Given the description of an element on the screen output the (x, y) to click on. 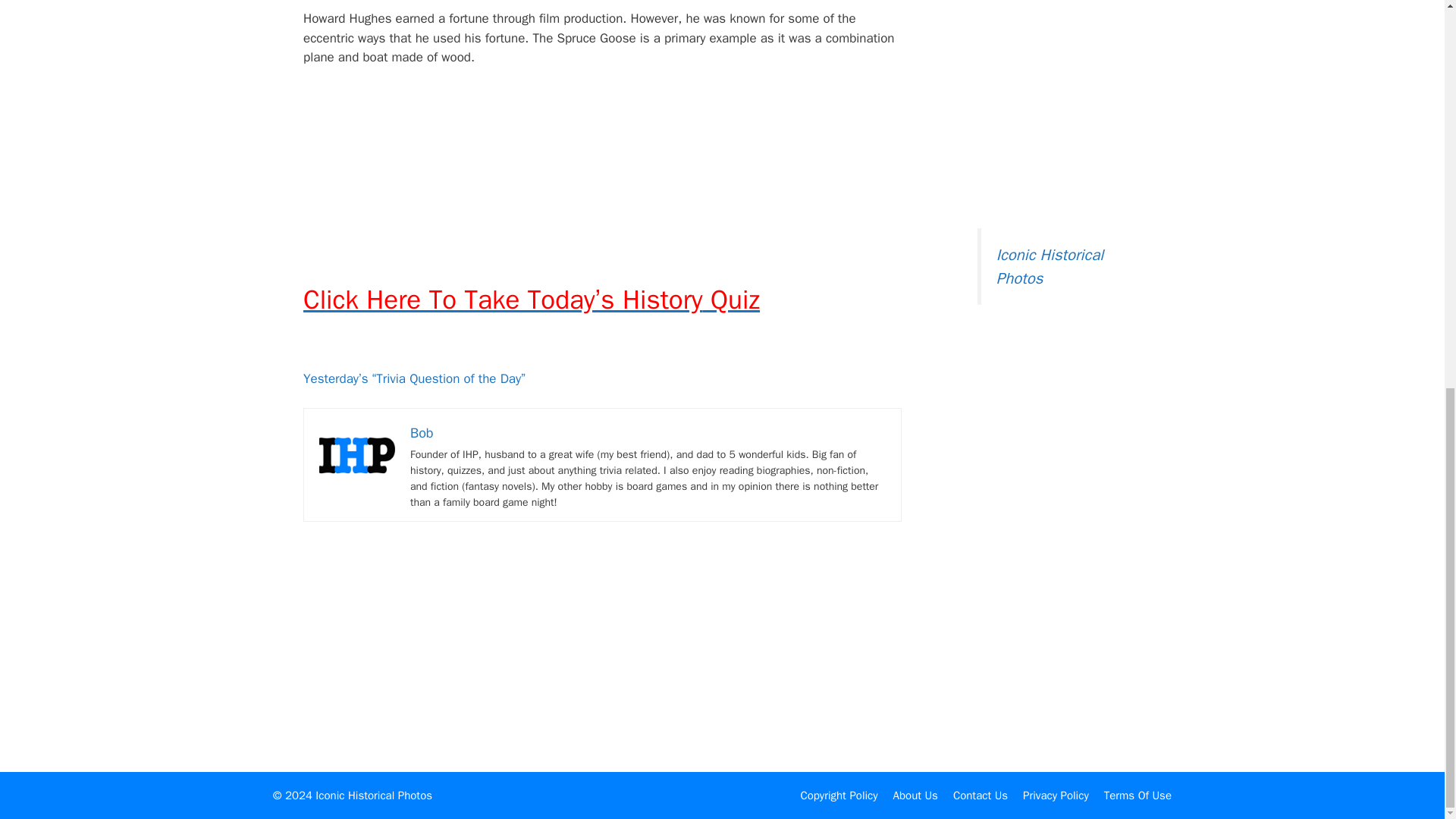
Contact Us (980, 795)
Iconic Historical Photos (1049, 266)
Terms Of Use (1137, 795)
Copyright Policy (838, 795)
Privacy Policy (1056, 795)
About Us (915, 795)
Bob (421, 433)
